Given the description of an element on the screen output the (x, y) to click on. 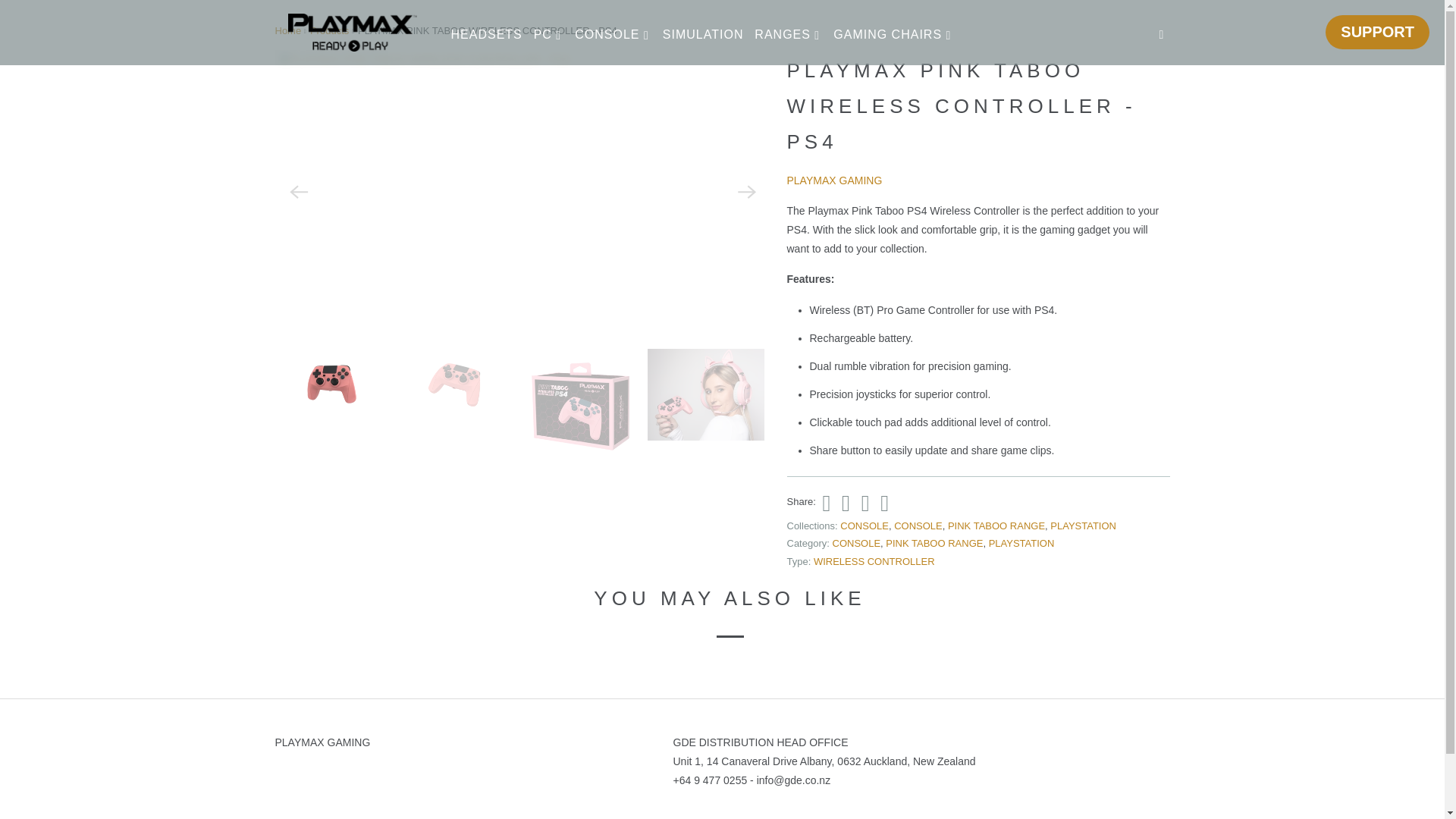
Products tagged CONSOLE (856, 542)
CONSOLE (864, 525)
PLAYSTATION (1082, 525)
HEADSETS (485, 34)
CONSOLE (917, 525)
PLAYMAX GAMING (352, 32)
PINK TABOO RANGE (996, 525)
PLAYMAX PINK TABOO WIRELESS CONTROLLER - PS4 (523, 58)
PLAYMAX GAMING (834, 180)
PLAYMAX GAMING (288, 30)
